Given the description of an element on the screen output the (x, y) to click on. 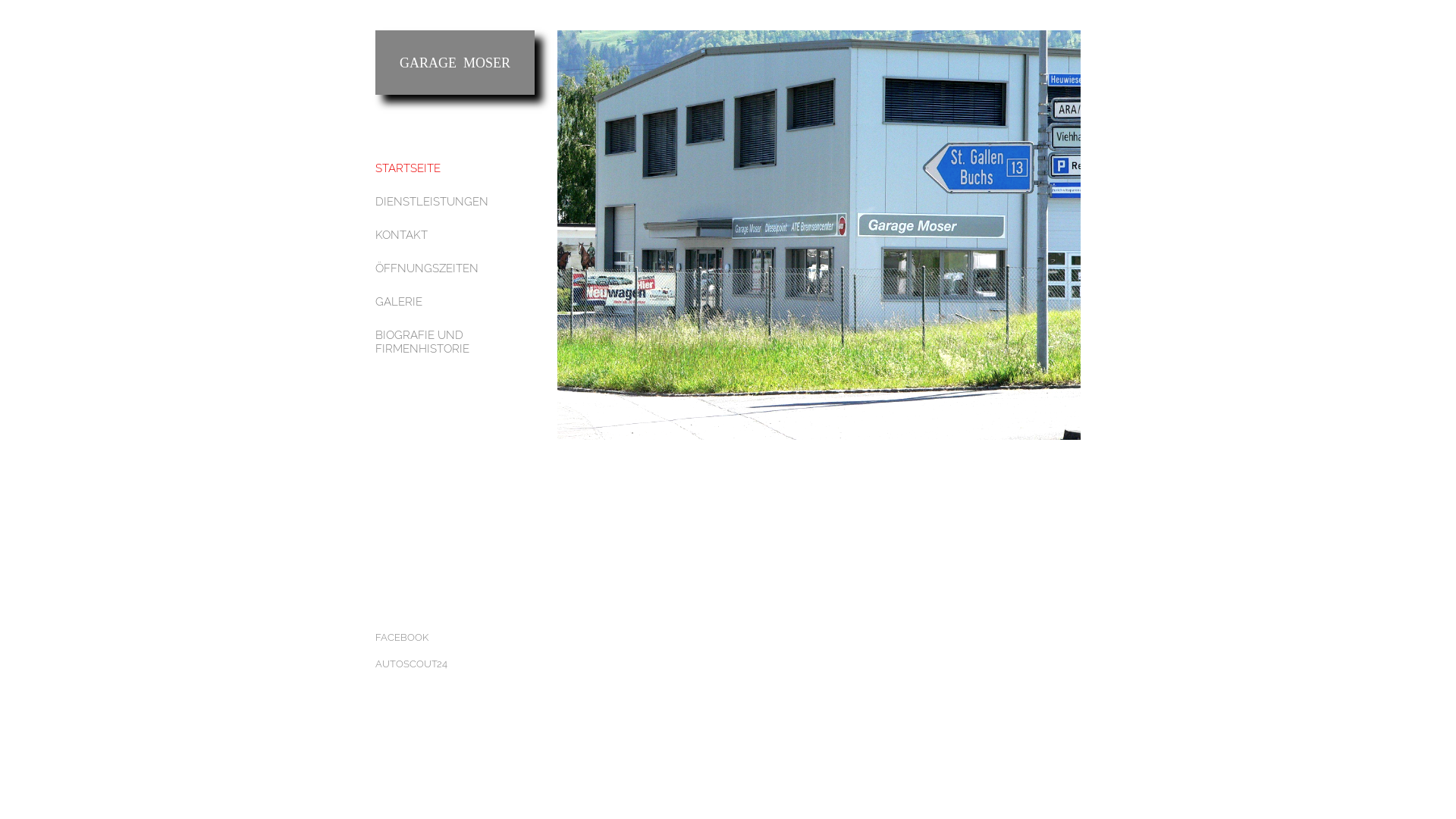
AUTOSCOUT24 Element type: text (454, 663)
DIENSTLEISTUNGEN Element type: text (454, 201)
STARTSEITE Element type: text (454, 168)
GALERIE Element type: text (454, 301)
FACEBOOK Element type: text (454, 637)
BIOGRAFIE UND FIRMENHISTORIE Element type: text (454, 341)
KONTAKT Element type: text (454, 234)
